Given the description of an element on the screen output the (x, y) to click on. 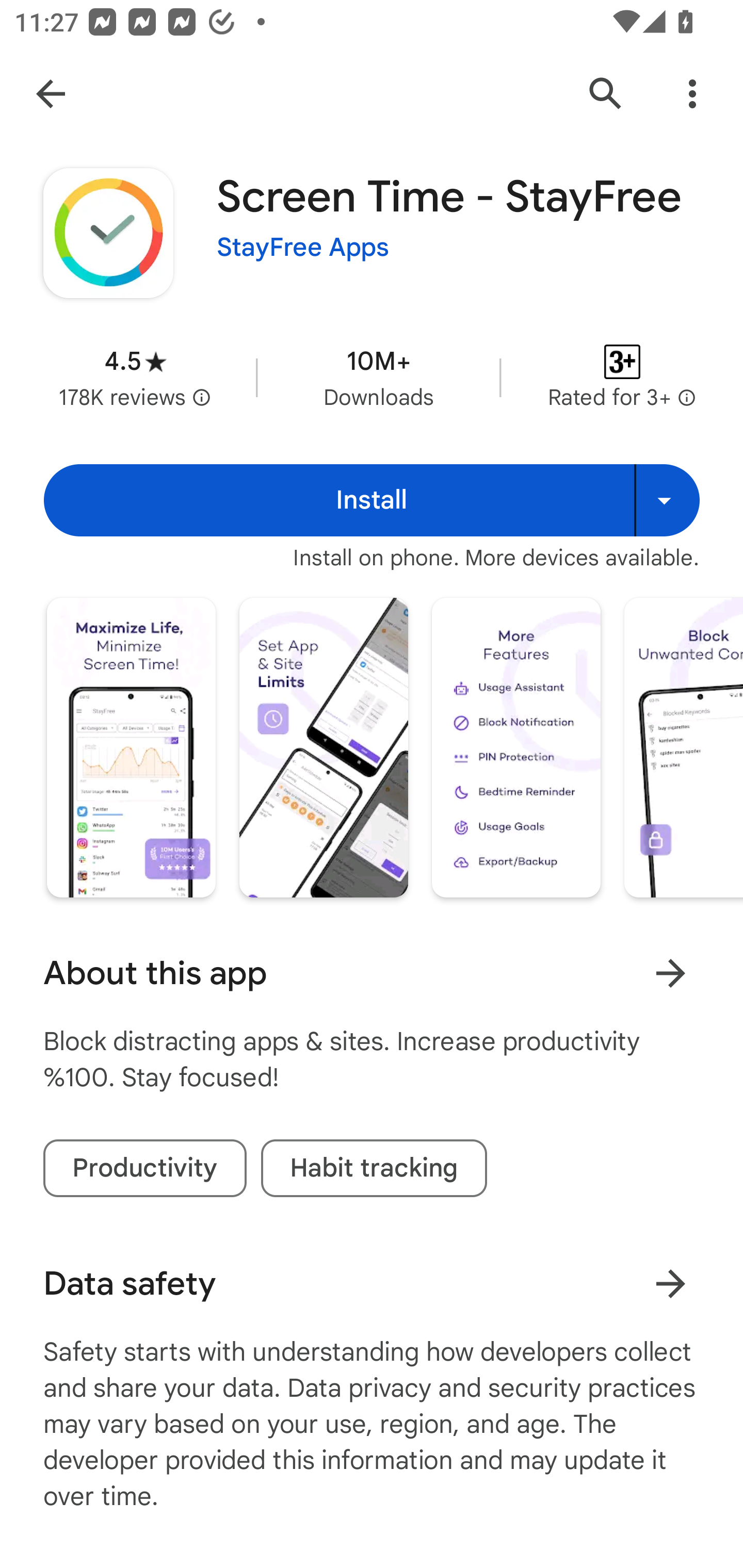
Navigate up (50, 93)
Search Google Play (605, 93)
More Options (692, 93)
StayFree Apps (302, 247)
Average rating 4.5 stars in 178 thousand reviews (135, 377)
Content rating Rated for 3+ (622, 377)
Install Install Install on more devices (371, 500)
Install on more devices (667, 500)
Screenshot "1" of "7" (130, 746)
Screenshot "2" of "7" (323, 746)
Screenshot "3" of "7" (515, 746)
About this app Learn more About this app (371, 972)
Learn more About this app (670, 972)
Productivity tag (144, 1168)
Habit tracking tag (373, 1168)
Data safety Learn more about data safety (371, 1284)
Learn more about data safety (670, 1283)
